Given the description of an element on the screen output the (x, y) to click on. 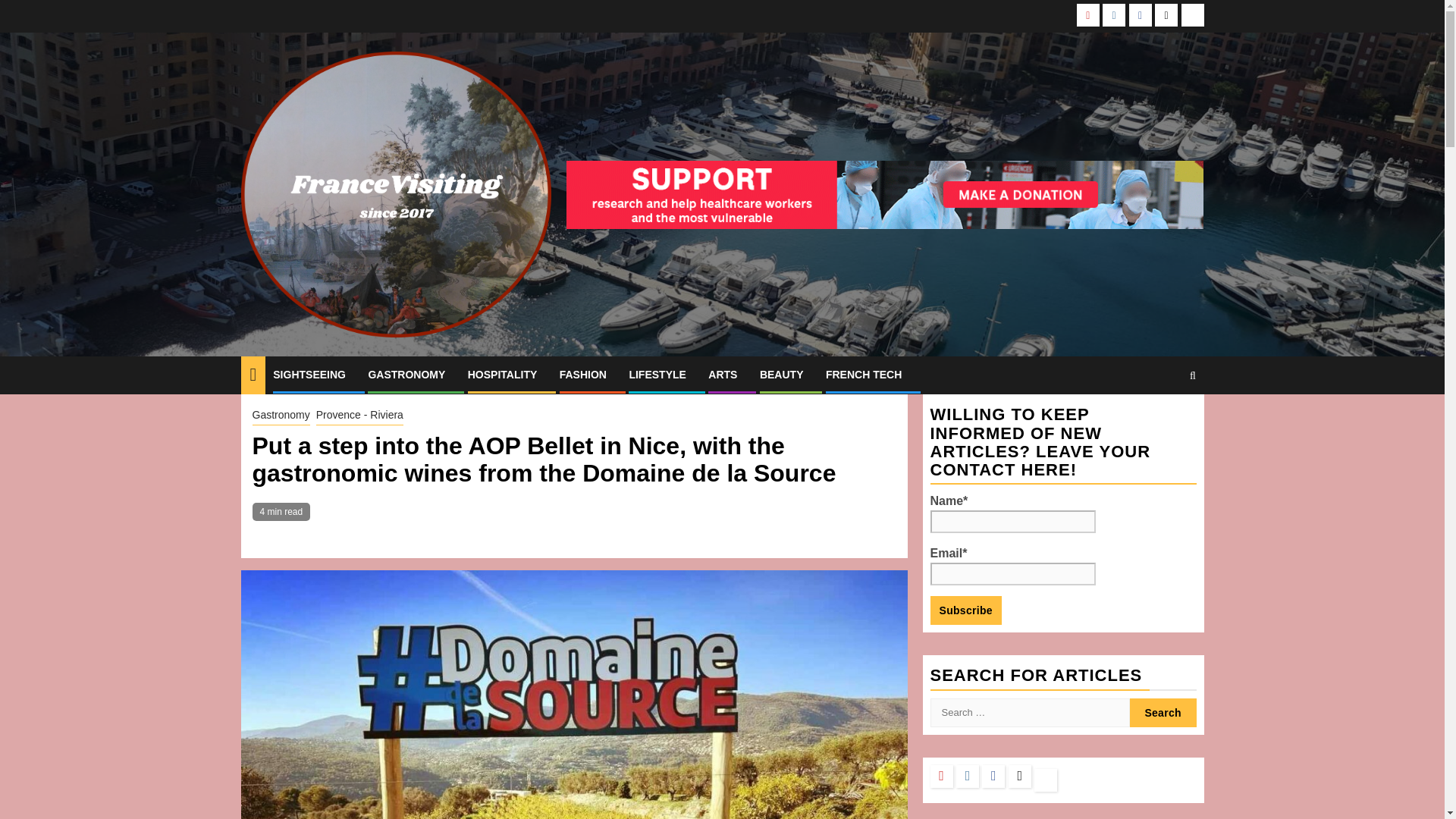
LIFESTYLE (656, 374)
BEAUTY (781, 374)
Search (1162, 712)
Provence - Riviera (359, 416)
ARTS (721, 374)
Contact (1192, 15)
Search (1163, 421)
FRENCH TECH (863, 374)
Twitter (1165, 15)
HOSPITALITY (502, 374)
GASTRONOMY (406, 374)
FASHION (583, 374)
YouTube (1088, 15)
Facebook (1140, 15)
SIGHTSEEING (309, 374)
